Given the description of an element on the screen output the (x, y) to click on. 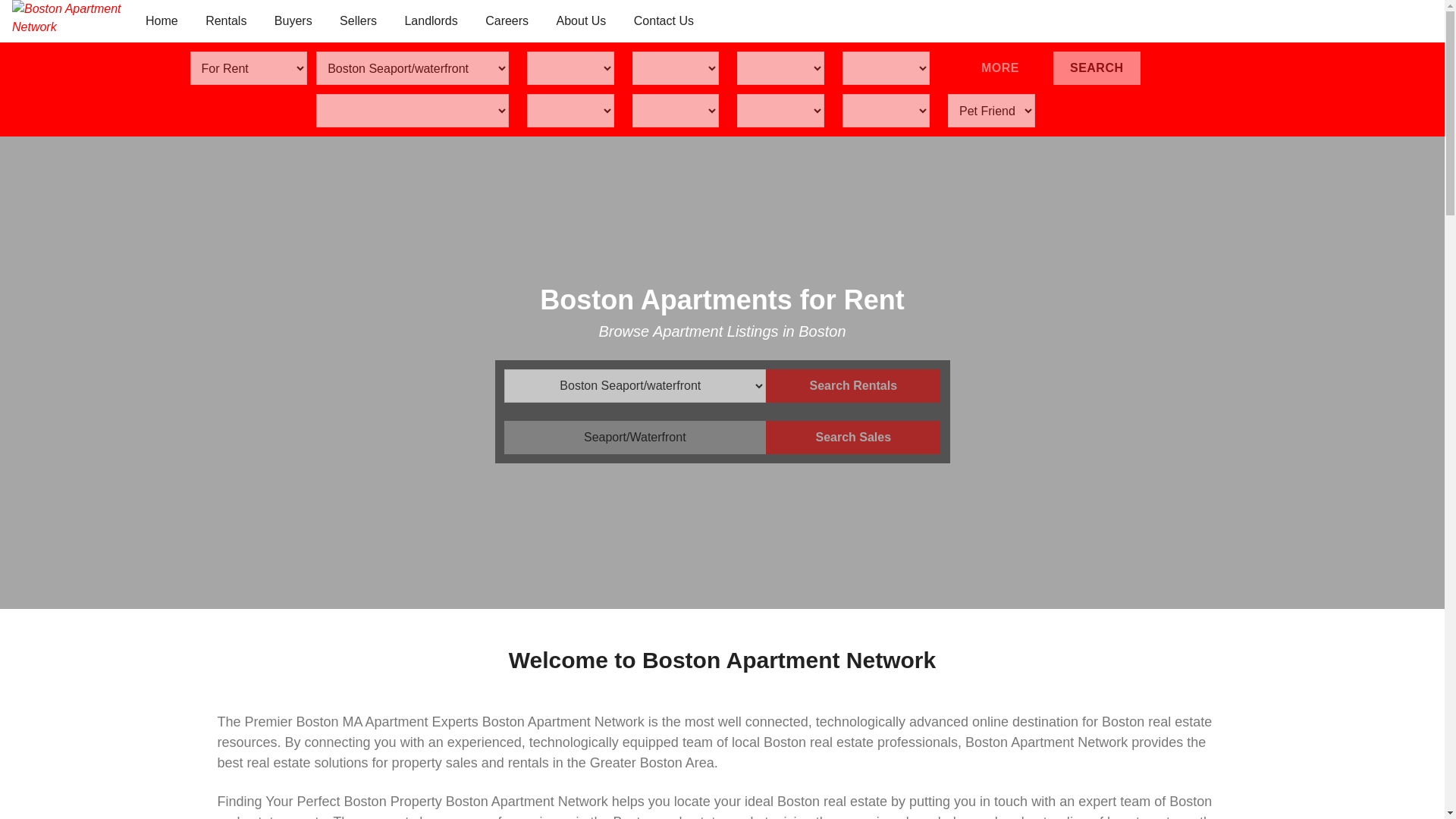
About Us (581, 21)
Buyers (293, 21)
Rentals (226, 21)
MORE (991, 68)
Careers (506, 21)
Sellers (357, 21)
Landlords (429, 21)
Search Rentals (852, 385)
Home (161, 21)
Contact Us (663, 21)
